Given the description of an element on the screen output the (x, y) to click on. 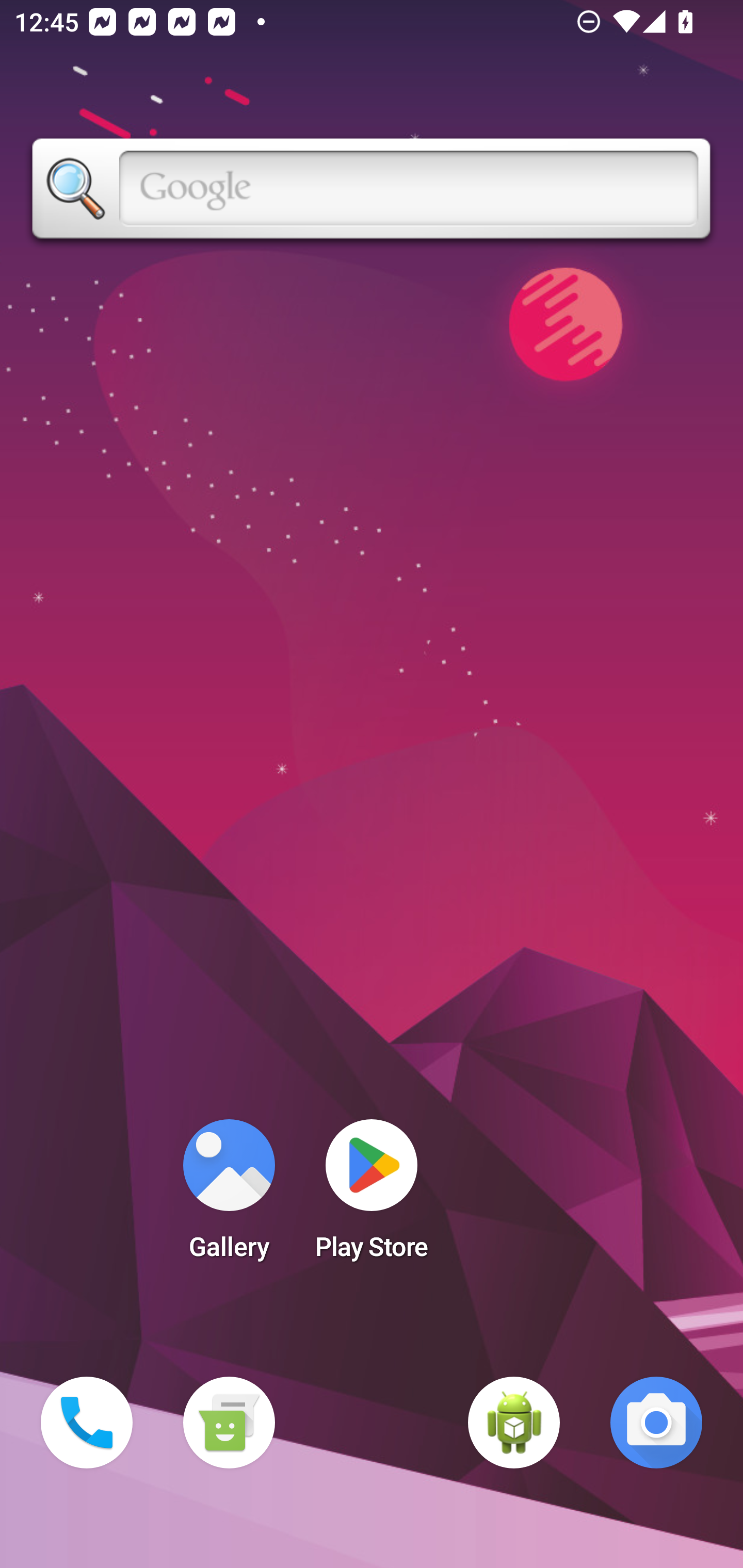
Gallery (228, 1195)
Play Store (371, 1195)
Phone (86, 1422)
Messaging (228, 1422)
WebView Browser Tester (513, 1422)
Camera (656, 1422)
